Given the description of an element on the screen output the (x, y) to click on. 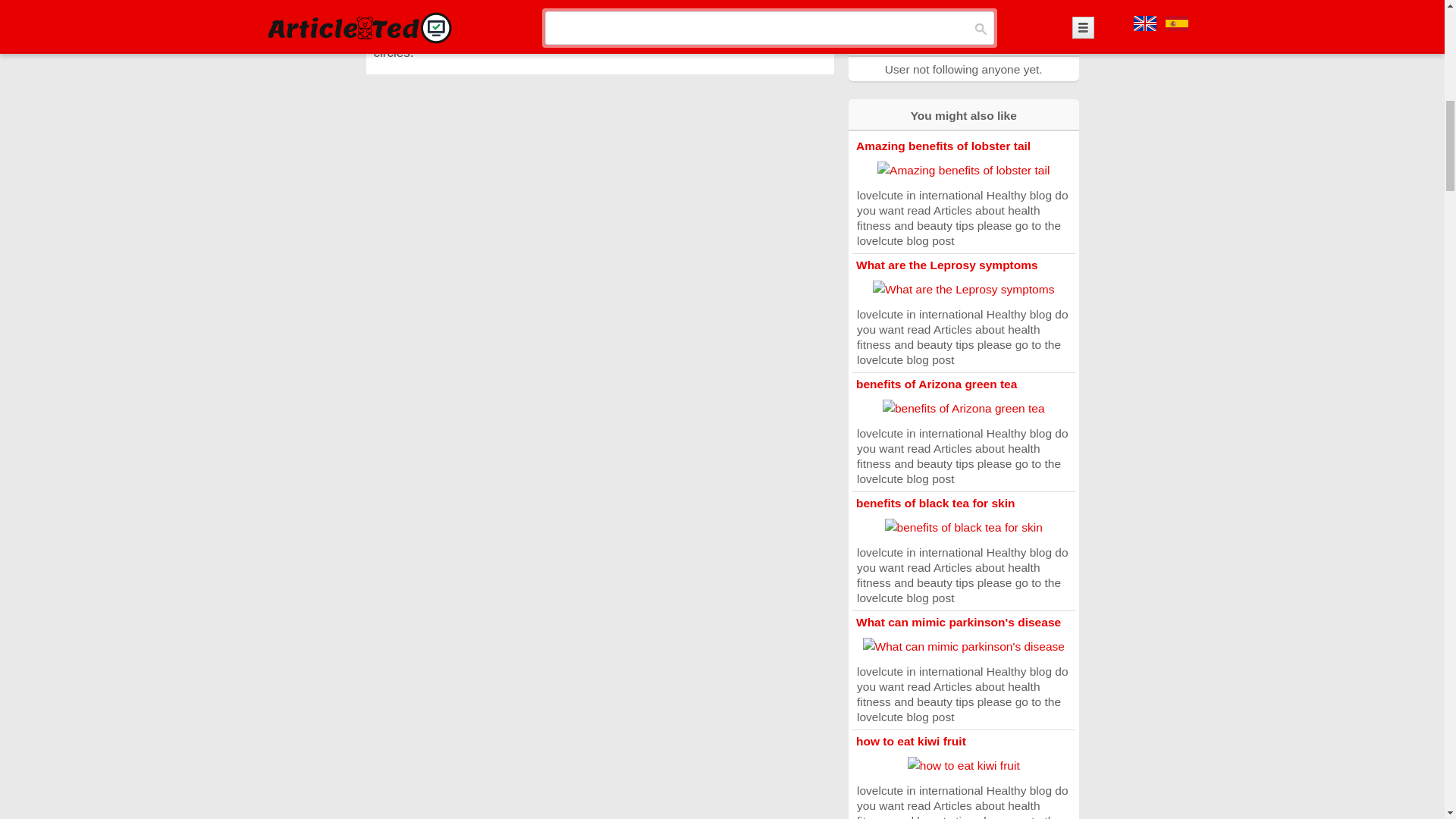
benefits of Arizona green tea (936, 383)
benefits of black tea for skin (935, 502)
What are the Leprosy symptoms (947, 264)
What can mimic parkinson's disease (958, 621)
Amazing benefits of lobster tail (943, 145)
